Given the description of an element on the screen output the (x, y) to click on. 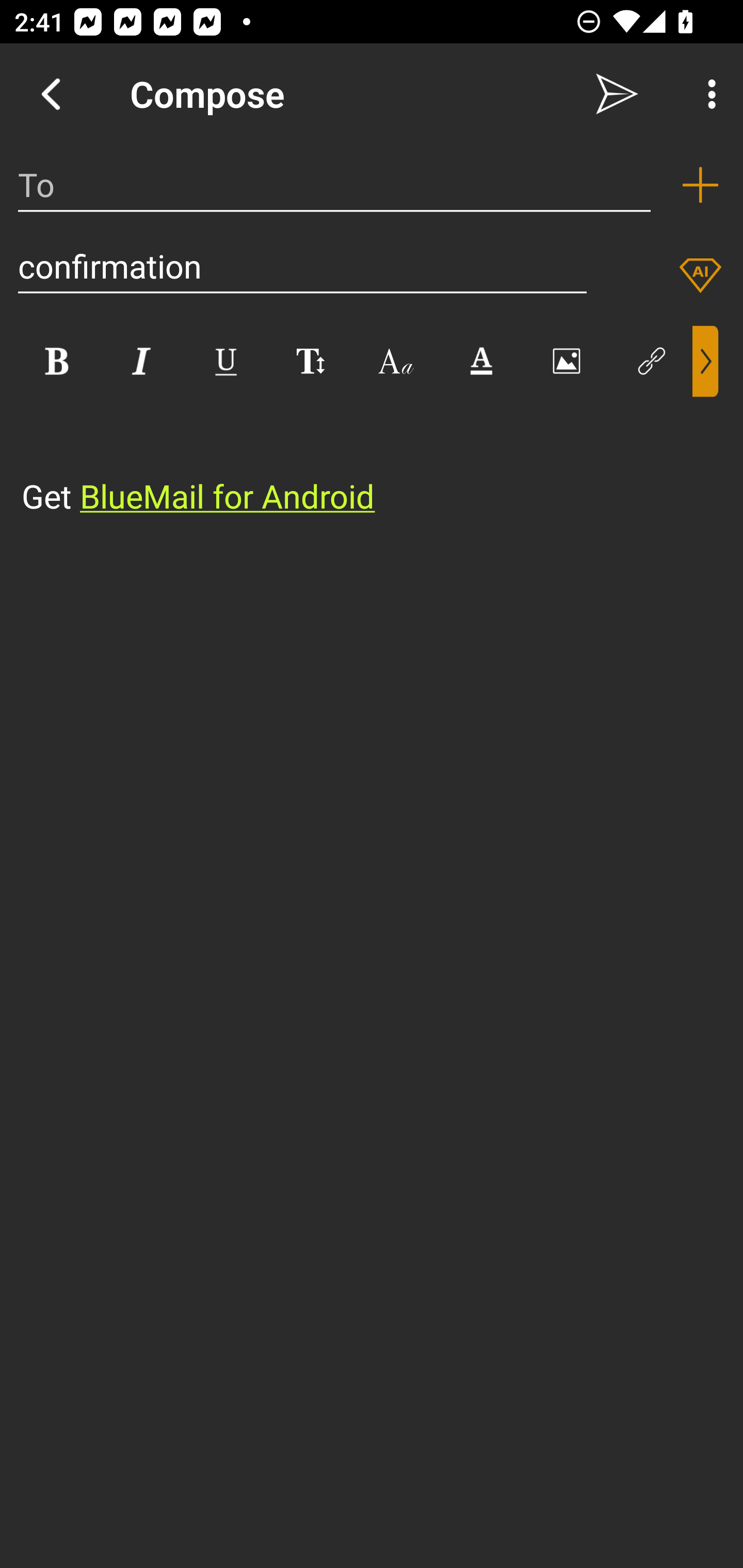
Navigate up (50, 93)
Send (616, 93)
More Options (706, 93)
To (334, 184)
Add recipient (To) (699, 184)
confirmation (302, 266)


⁣Get BlueMail for Android ​ (355, 457)
